Given the description of an element on the screen output the (x, y) to click on. 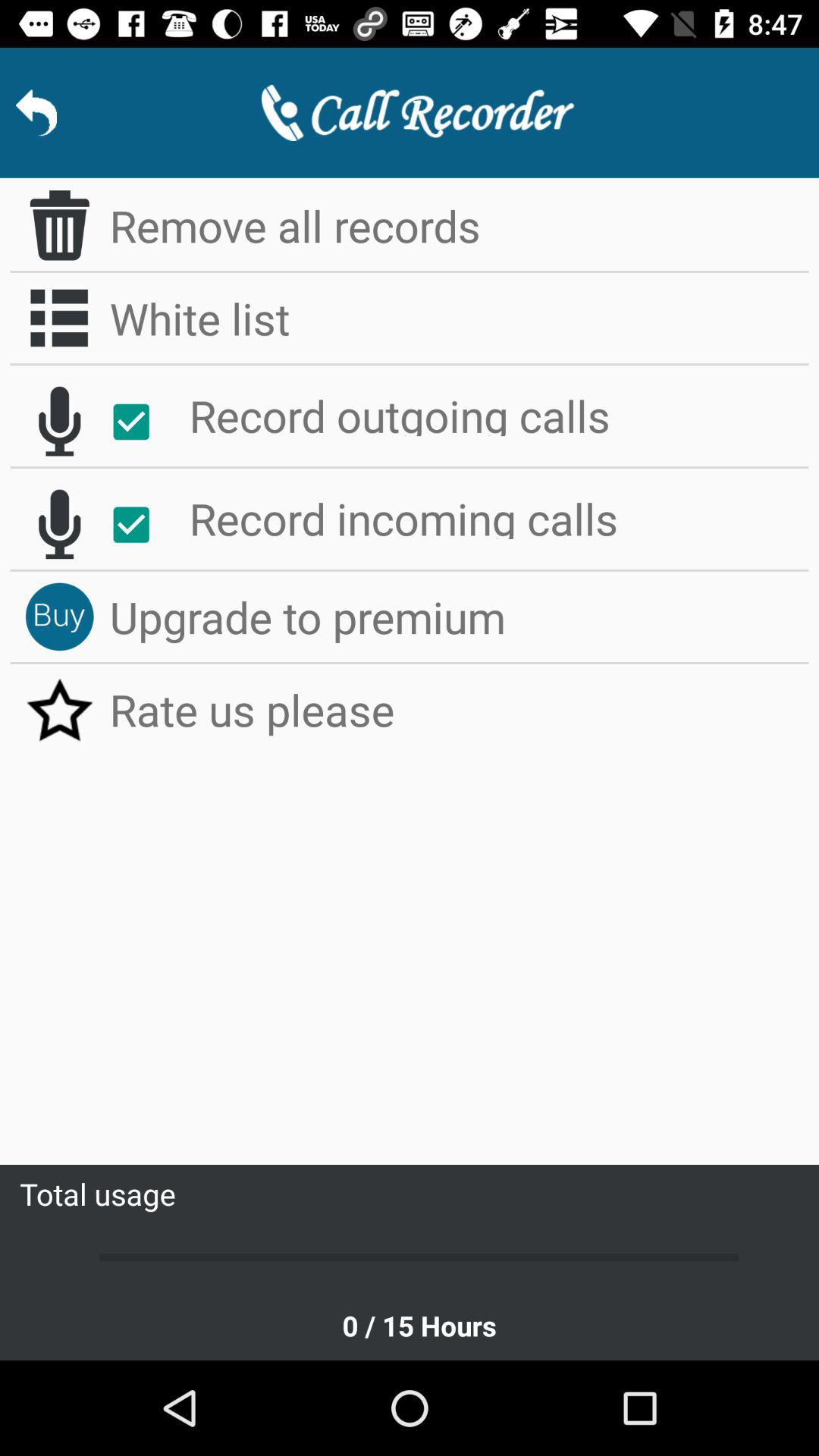
open white list (59, 318)
